Given the description of an element on the screen output the (x, y) to click on. 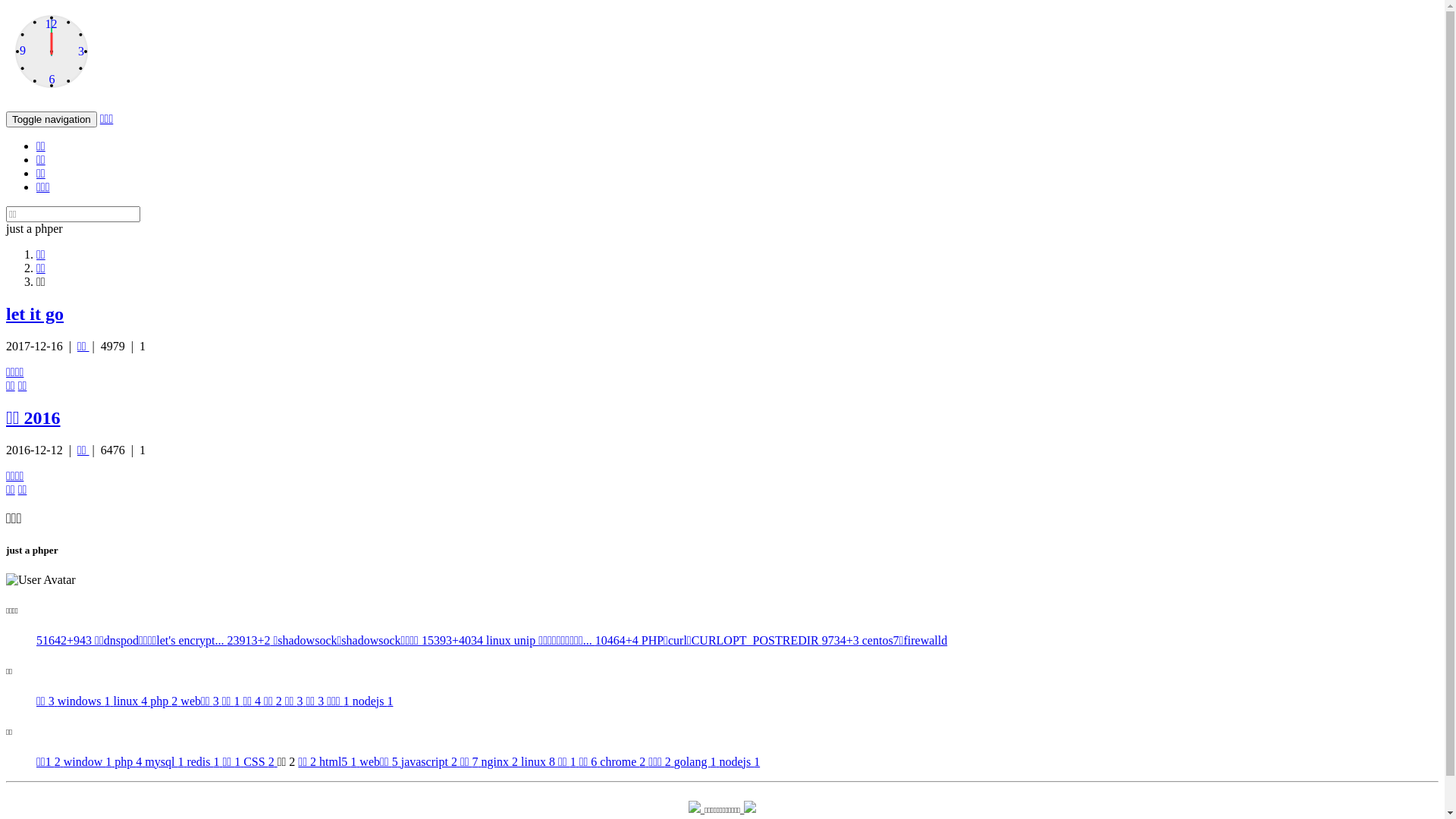
let it go Element type: text (34, 313)
nginx 2 Element type: text (500, 761)
redis 1 Element type: text (204, 761)
nodejs 1 Element type: text (738, 761)
linux 8 Element type: text (539, 761)
golang 1 Element type: text (696, 761)
php 2 Element type: text (165, 700)
html5 1 Element type: text (339, 761)
window 1 Element type: text (89, 761)
windows 1 Element type: text (85, 700)
linux 4 Element type: text (131, 700)
php 4 Element type: text (129, 761)
CSS 2 Element type: text (259, 761)
nodejs 1 Element type: text (372, 700)
javascript 2 Element type: text (430, 761)
chrome 2 Element type: text (623, 761)
mysql 1 Element type: text (165, 761)
Toggle navigation Element type: text (51, 119)
